Given the description of an element on the screen output the (x, y) to click on. 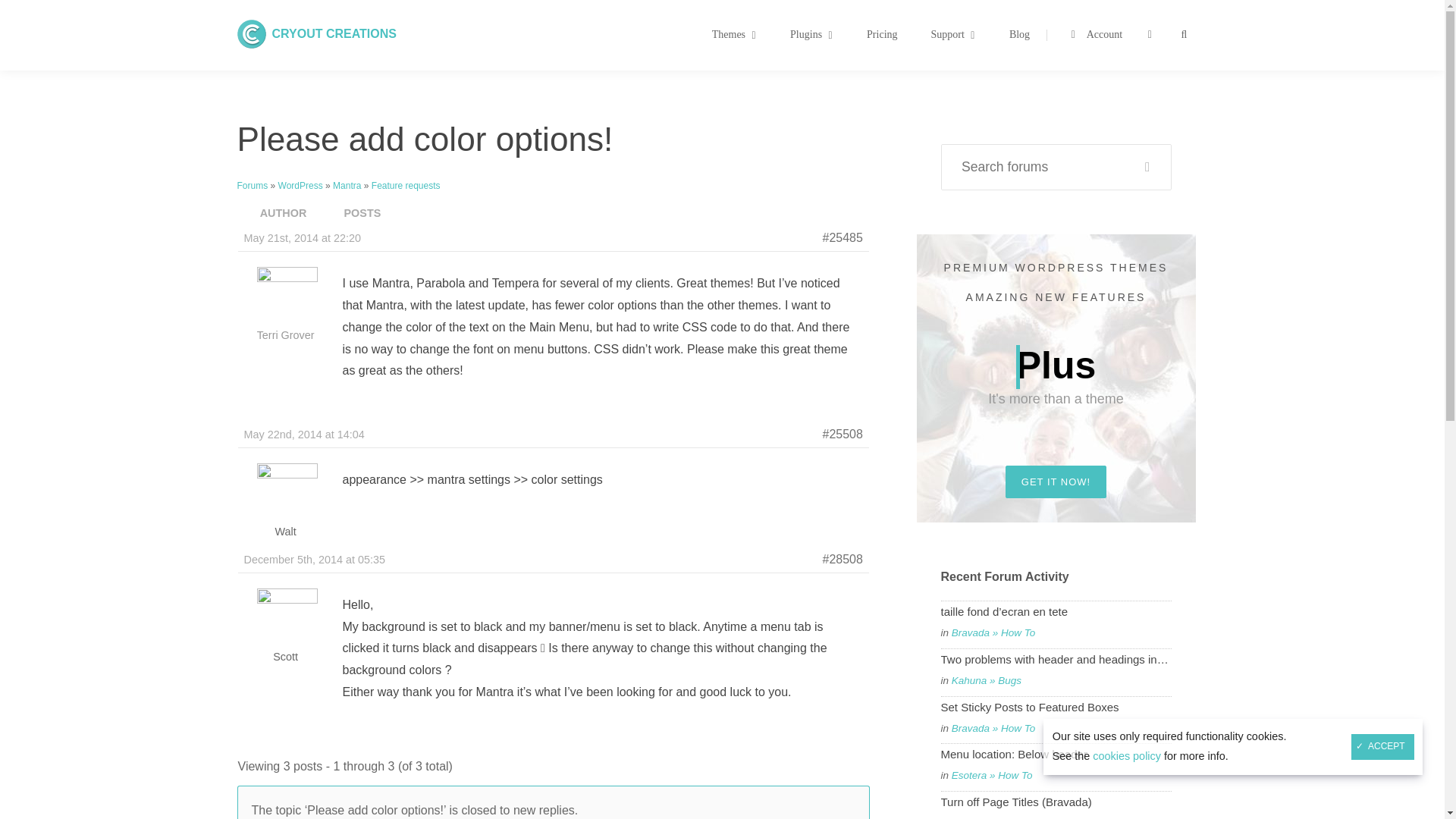
CRYOUT CREATIONS (333, 33)
Accept cookies and dismiss this notification (898, 35)
Free WordPress Themes and Plugins (1382, 746)
Themes (333, 33)
